Given the description of an element on the screen output the (x, y) to click on. 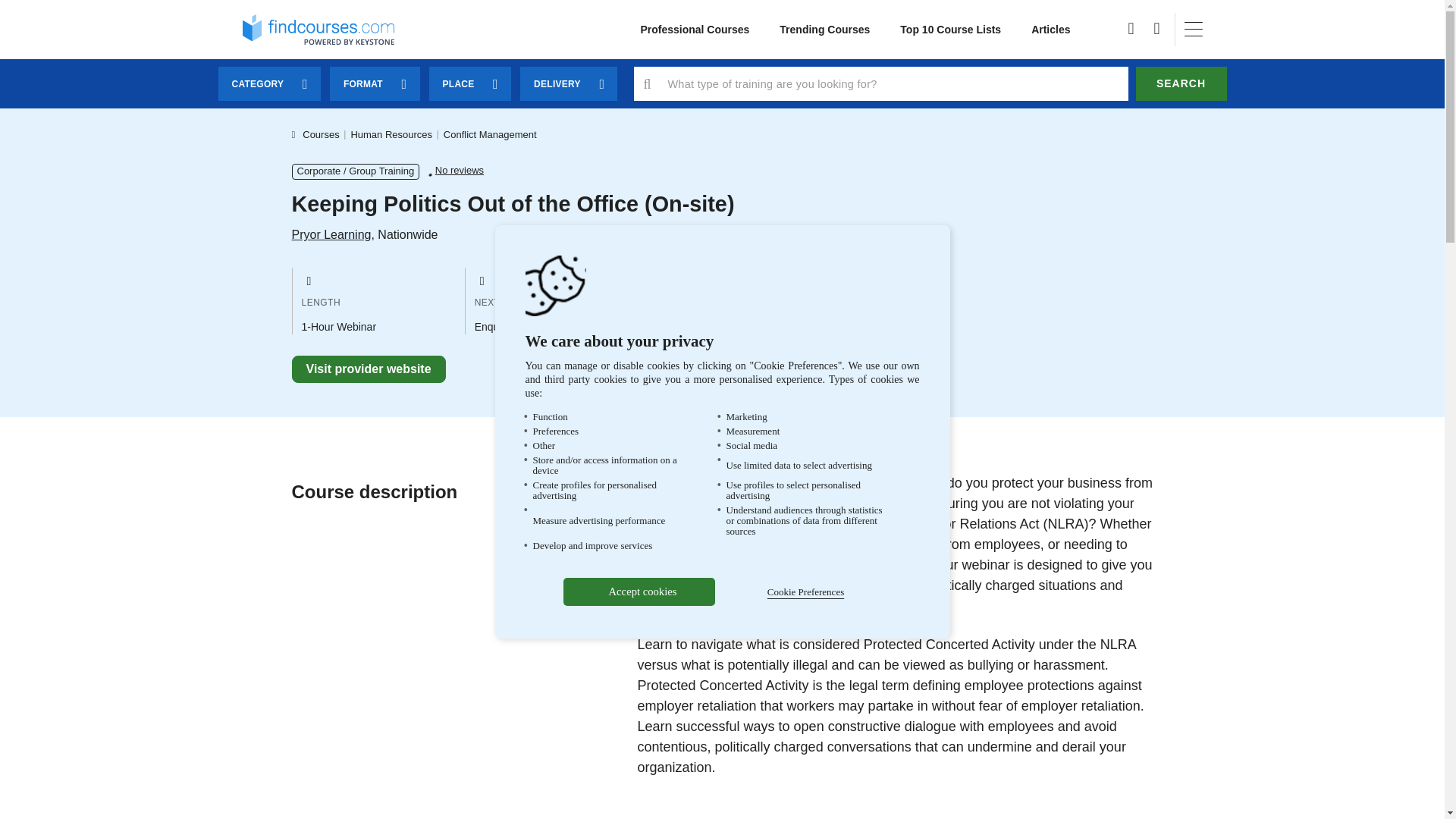
Trending Courses (824, 29)
Articles (1050, 29)
Search (1181, 83)
Accept cookies (638, 592)
Search (1181, 83)
findcourses.com homepage (318, 28)
All course categories (694, 29)
Cookie Preferences (804, 592)
Top 10 Course Lists (950, 29)
Purpose (721, 477)
